Given the description of an element on the screen output the (x, y) to click on. 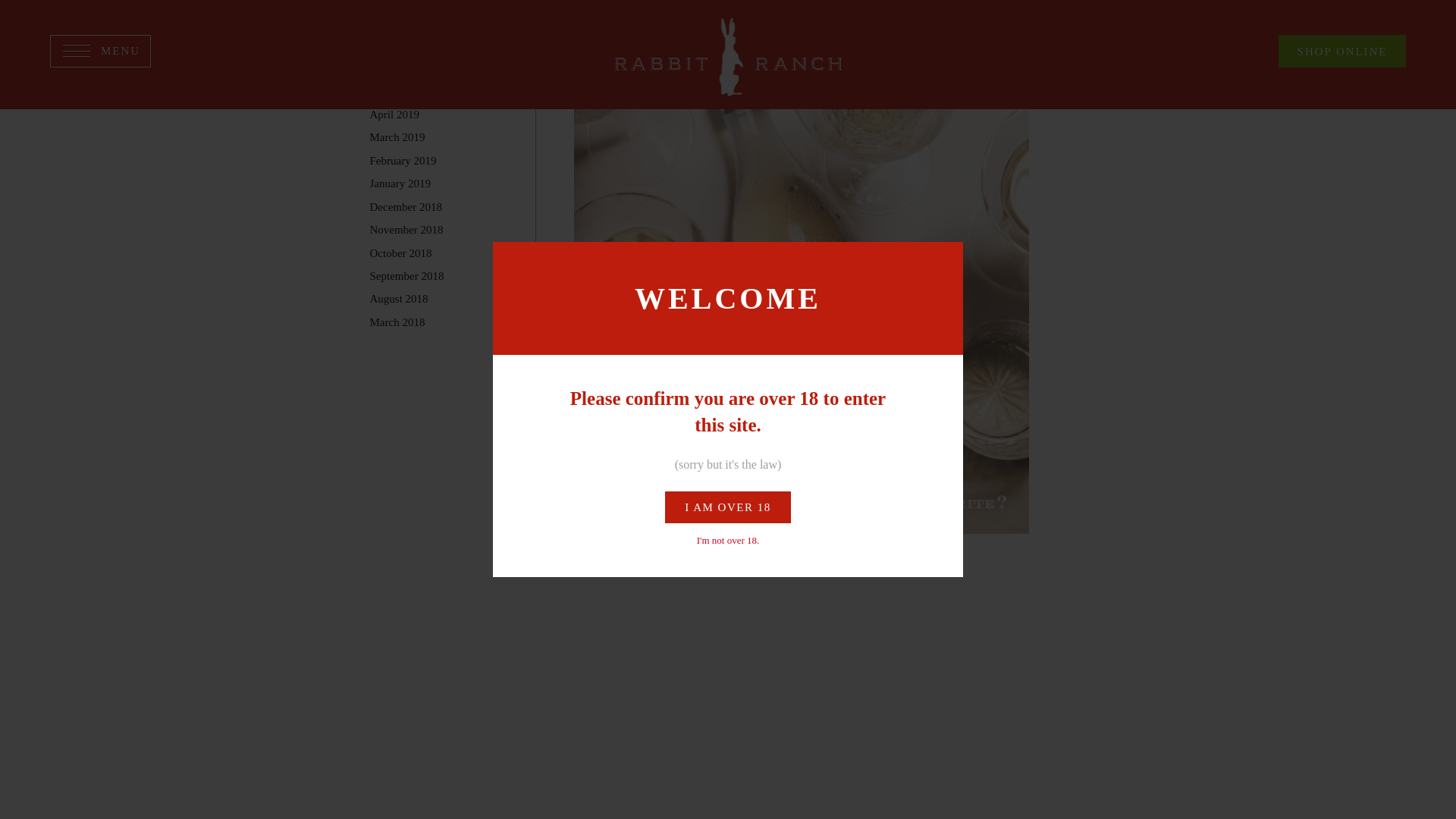
I AM OVER 18 (727, 158)
I'm not over 18. (728, 191)
